Given the description of an element on the screen output the (x, y) to click on. 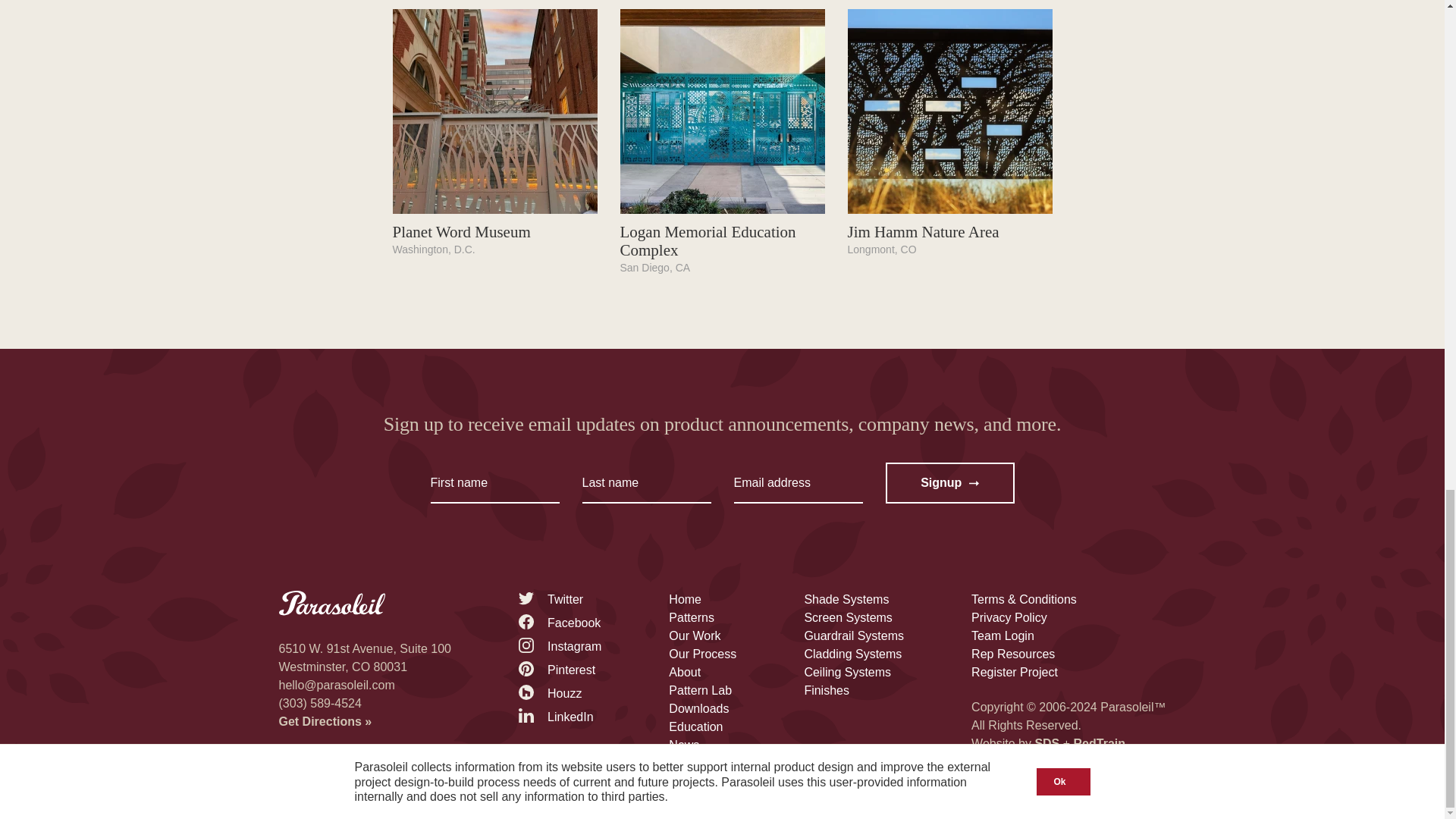
Give Parasoleil a Call (320, 703)
Get Directions to Parasoleil (325, 721)
RedTrain Web Services (1099, 743)
Logan Memorial Education Complex (708, 240)
Privacy Policy (1008, 617)
Connect with Parasoleil on Houzz (549, 693)
Connect with Parasoleil on LinkedIn (556, 717)
Planet Word Museum (462, 231)
Strong Design Studios (1046, 743)
Connect with Parasoleil on Facebook (558, 623)
